Given the description of an element on the screen output the (x, y) to click on. 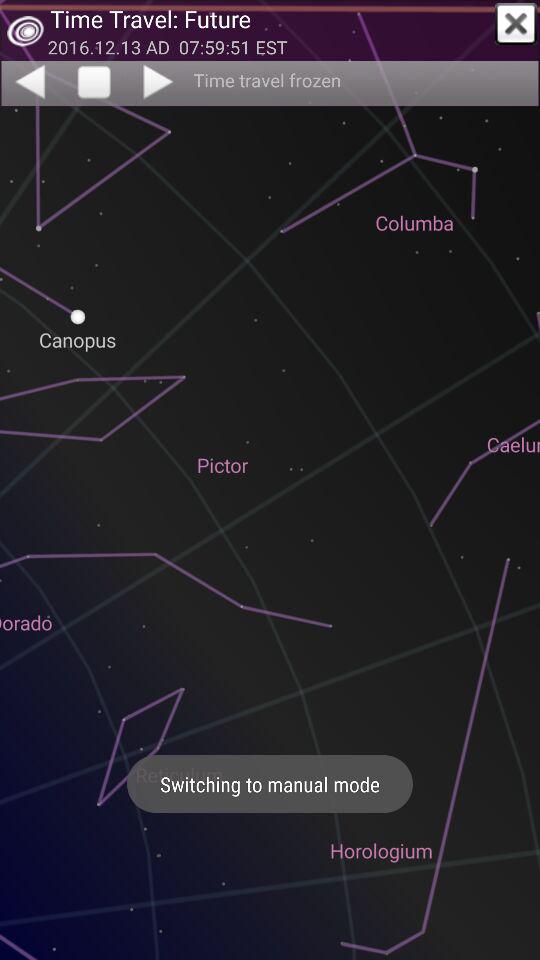
close button (516, 24)
